Given the description of an element on the screen output the (x, y) to click on. 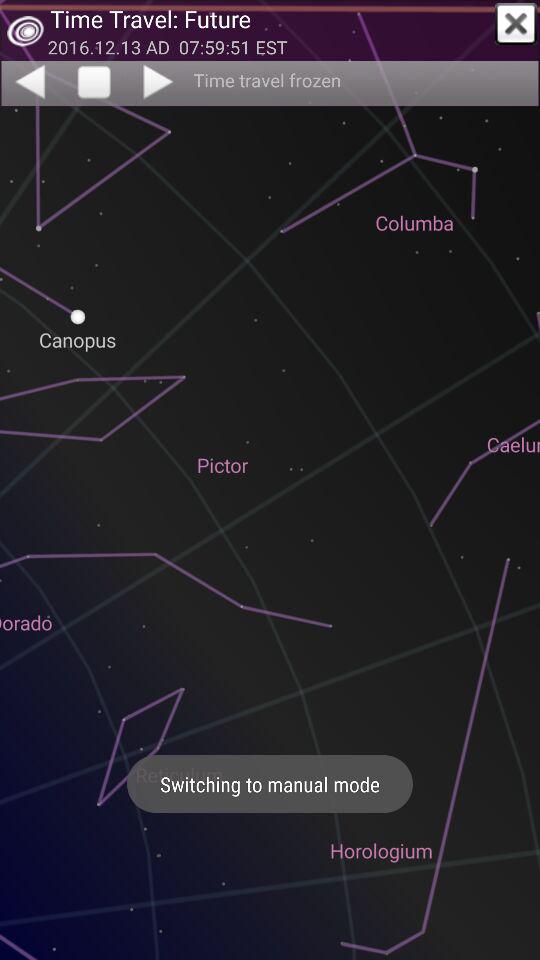
close button (516, 24)
